Given the description of an element on the screen output the (x, y) to click on. 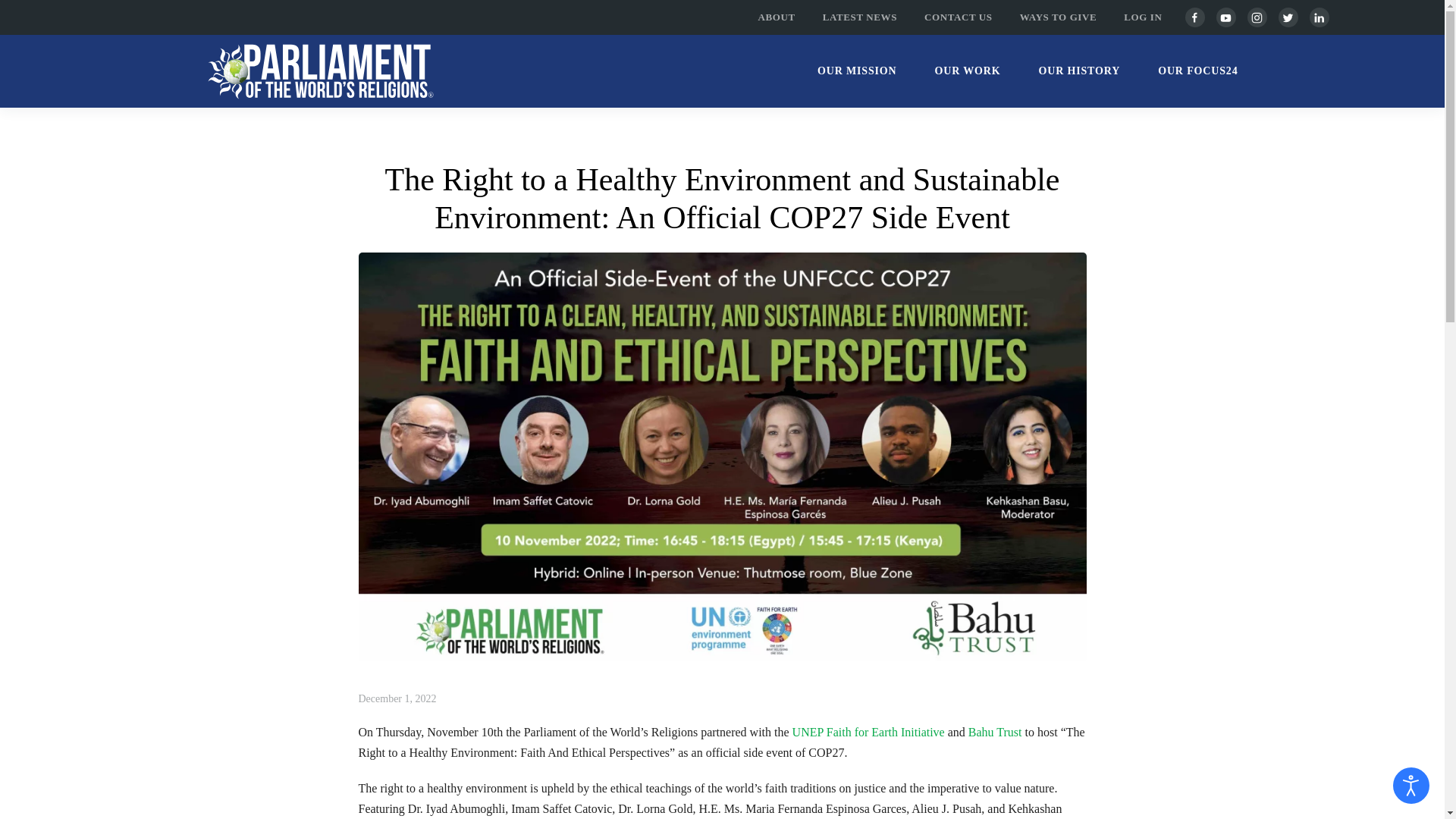
Open accessibility tools (1411, 785)
